Given the description of an element on the screen output the (x, y) to click on. 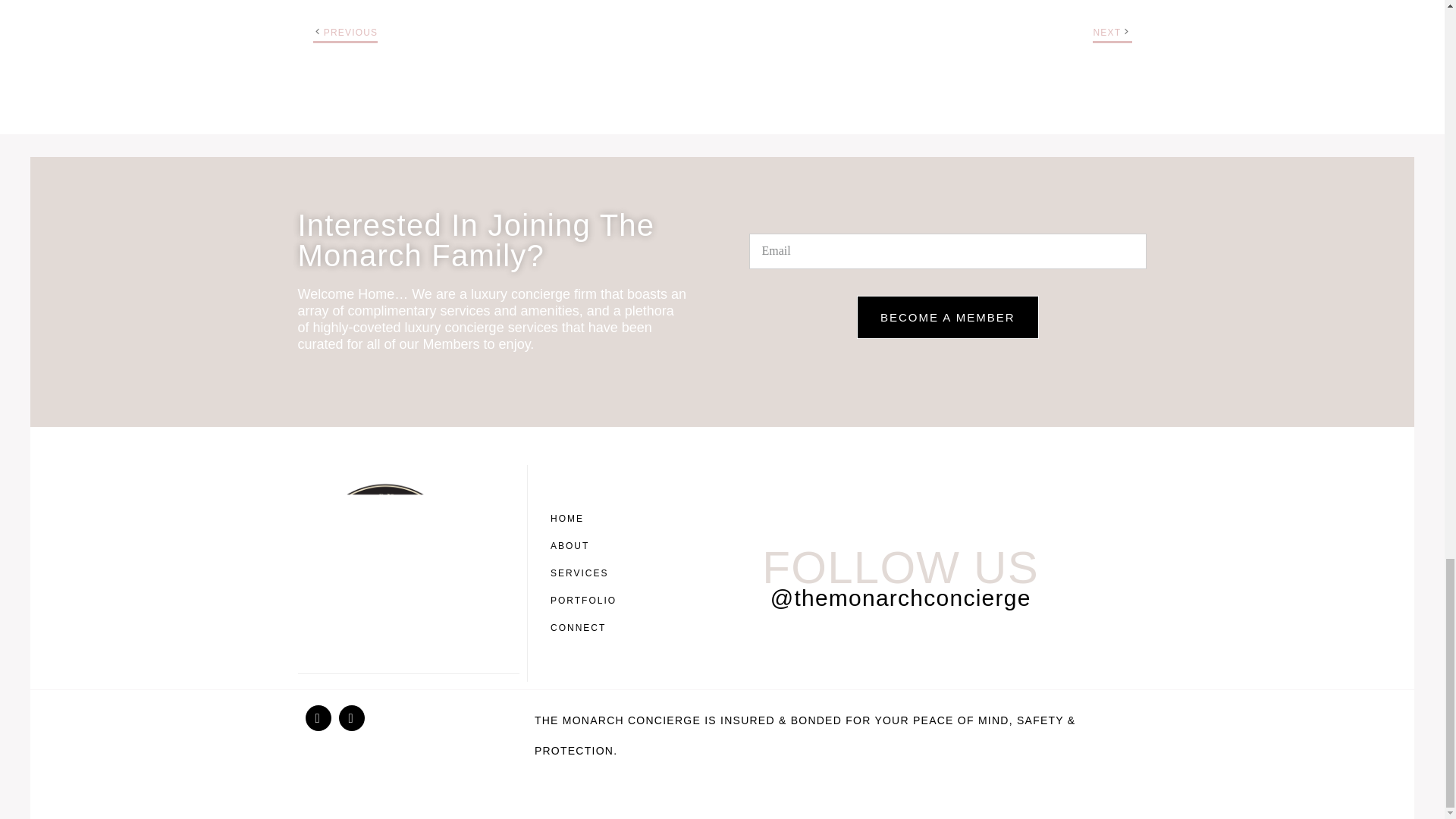
SERVICES (587, 573)
PORTFOLIO (587, 600)
HOME (587, 518)
ABOUT (587, 545)
PREVIOUS (350, 32)
NEXT (1107, 32)
BECOME A MEMBER (948, 317)
CONNECT (587, 627)
